Given the description of an element on the screen output the (x, y) to click on. 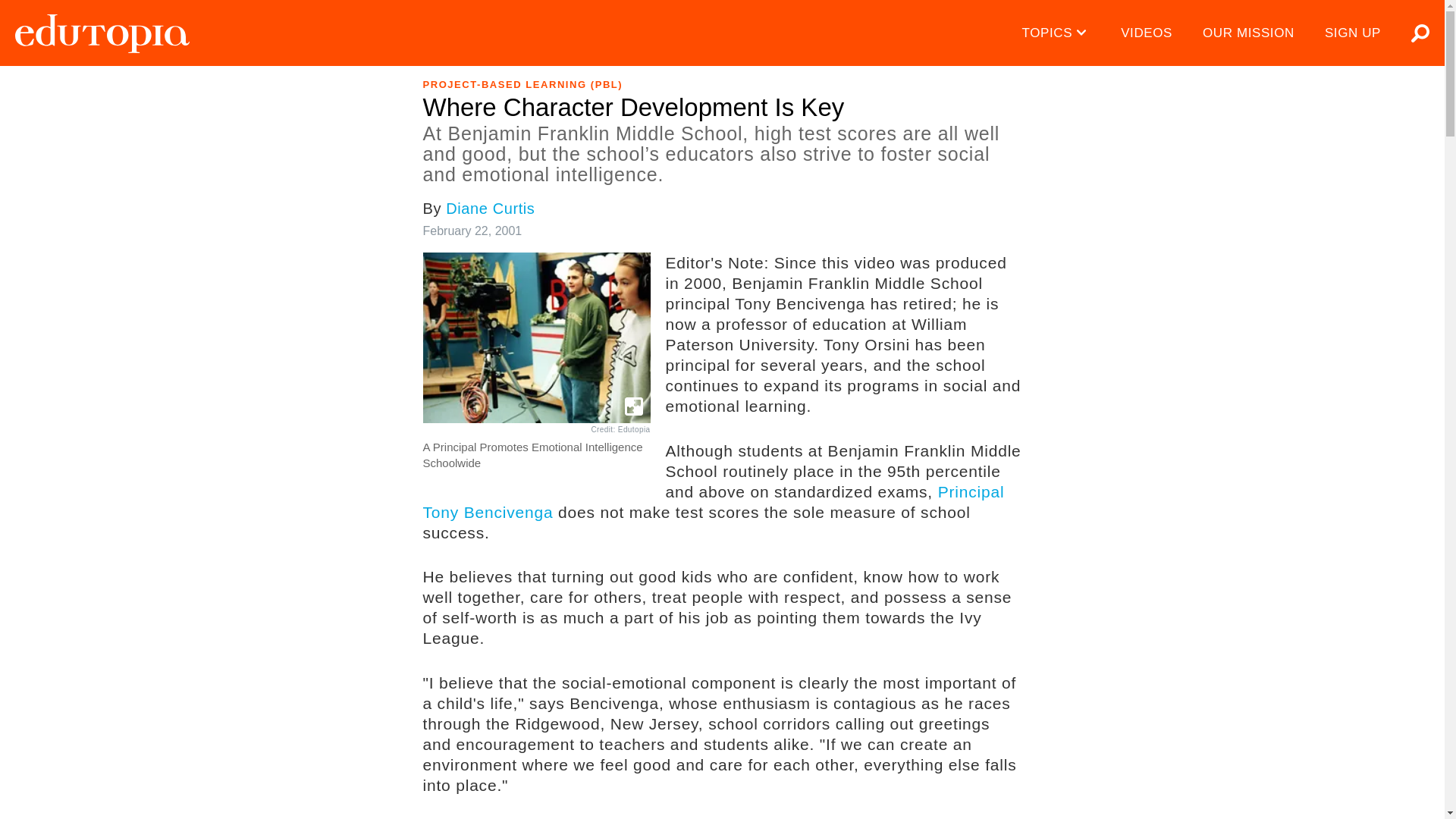
VIDEOS (1146, 33)
Edutopia (101, 33)
Principal Tony Bencivenga (713, 501)
Diane Curtis (489, 208)
Edutopia (101, 33)
OUR MISSION (1248, 33)
SIGN UP (1352, 33)
TOPICS (1056, 33)
